Given the description of an element on the screen output the (x, y) to click on. 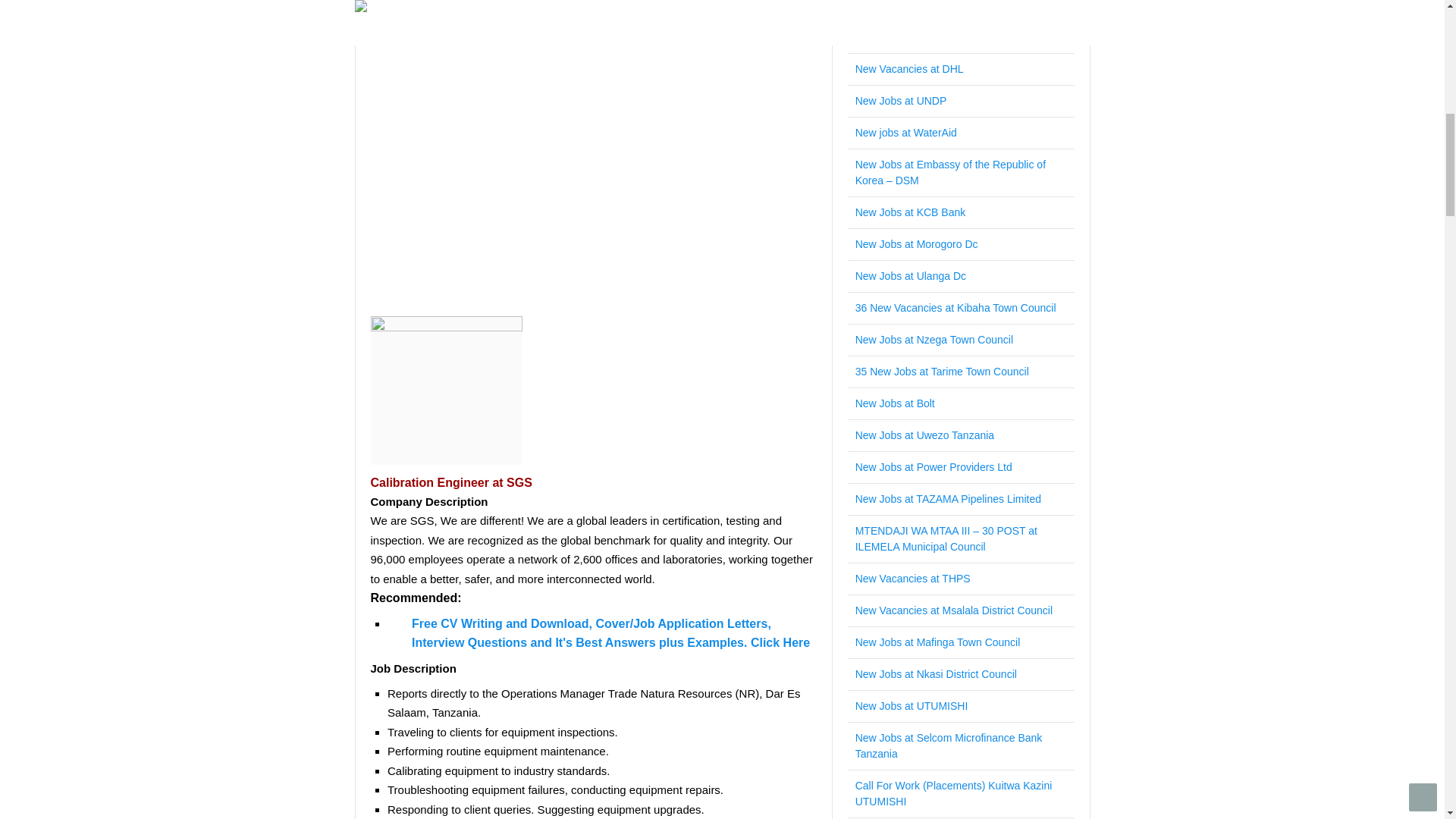
New Jobs at KCB Bank (911, 212)
New Vacancies at DHL (909, 69)
35 New Jobs at Tarime Town Council (942, 371)
New Jobs at Power Providers Ltd (933, 467)
New Jobs at BABATI DC (914, 37)
New Jobs at Nzega Town Council (934, 339)
New Jobs at Uwezo Tanzania (925, 435)
New Jobs at Bolt (895, 403)
New Jobs at MKURANGA DC (925, 5)
New Jobs at MKURANGA DC (925, 5)
New jobs at WaterAid (906, 132)
New Jobs at Ulanga Dc (911, 275)
New Jobs at TAZAMA Pipelines Limited (948, 499)
New Jobs at UNDP (901, 101)
New Jobs at Morogoro Dc (917, 244)
